Given the description of an element on the screen output the (x, y) to click on. 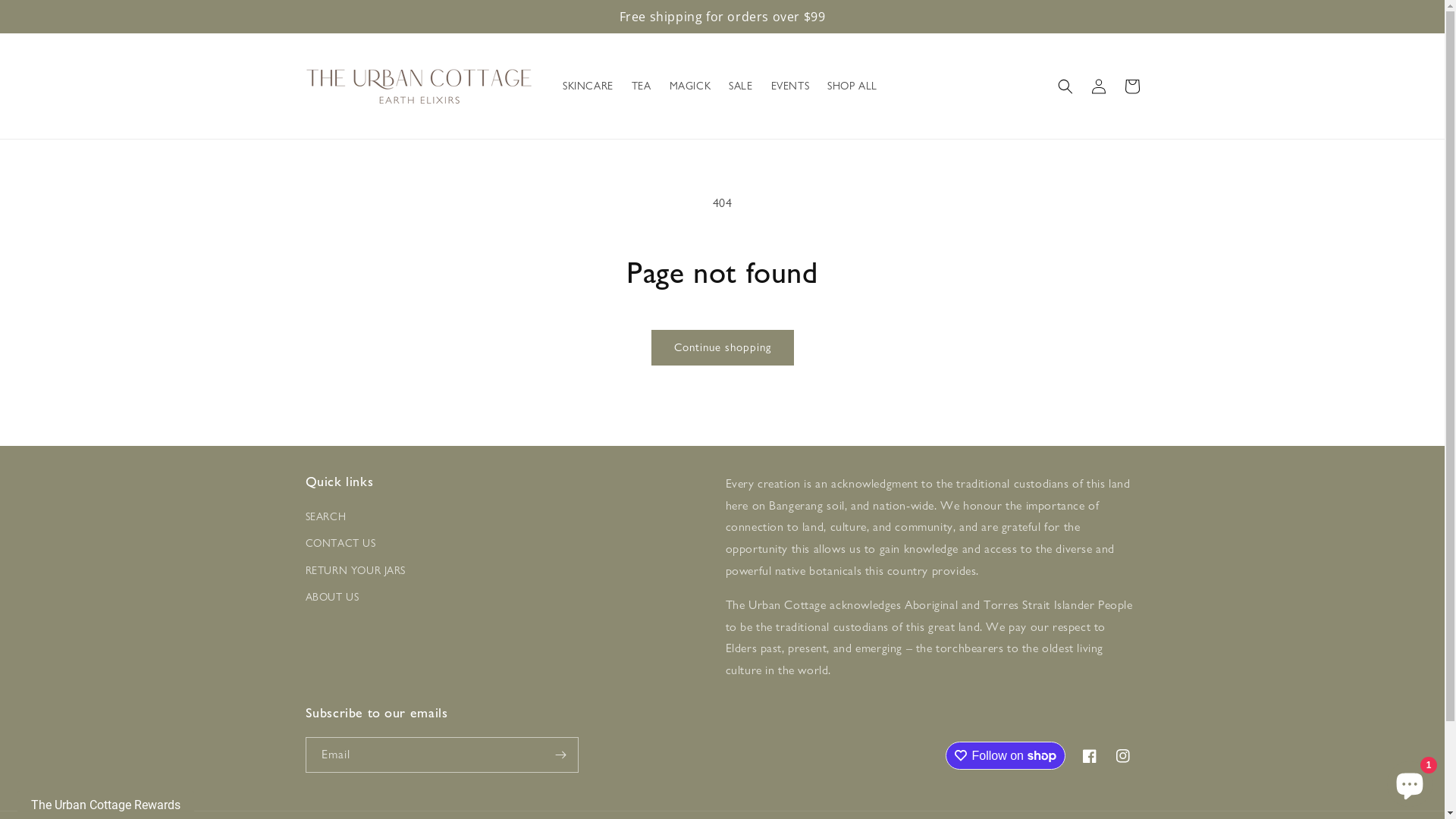
EVENTS Element type: text (790, 85)
Log in Element type: text (1097, 86)
SKINCARE Element type: text (587, 85)
Cart Element type: text (1131, 86)
SHOP ALL Element type: text (852, 85)
MAGICK Element type: text (690, 85)
CONTACT US Element type: text (339, 543)
SEARCH Element type: text (324, 518)
Continue shopping Element type: text (721, 347)
ABOUT US Element type: text (331, 596)
SALE Element type: text (740, 85)
RETURN YOUR JARS Element type: text (354, 570)
Facebook Element type: text (1088, 755)
Shopify online store chat Element type: hover (1409, 780)
TEA Element type: text (641, 85)
Instagram Element type: text (1122, 755)
